Given the description of an element on the screen output the (x, y) to click on. 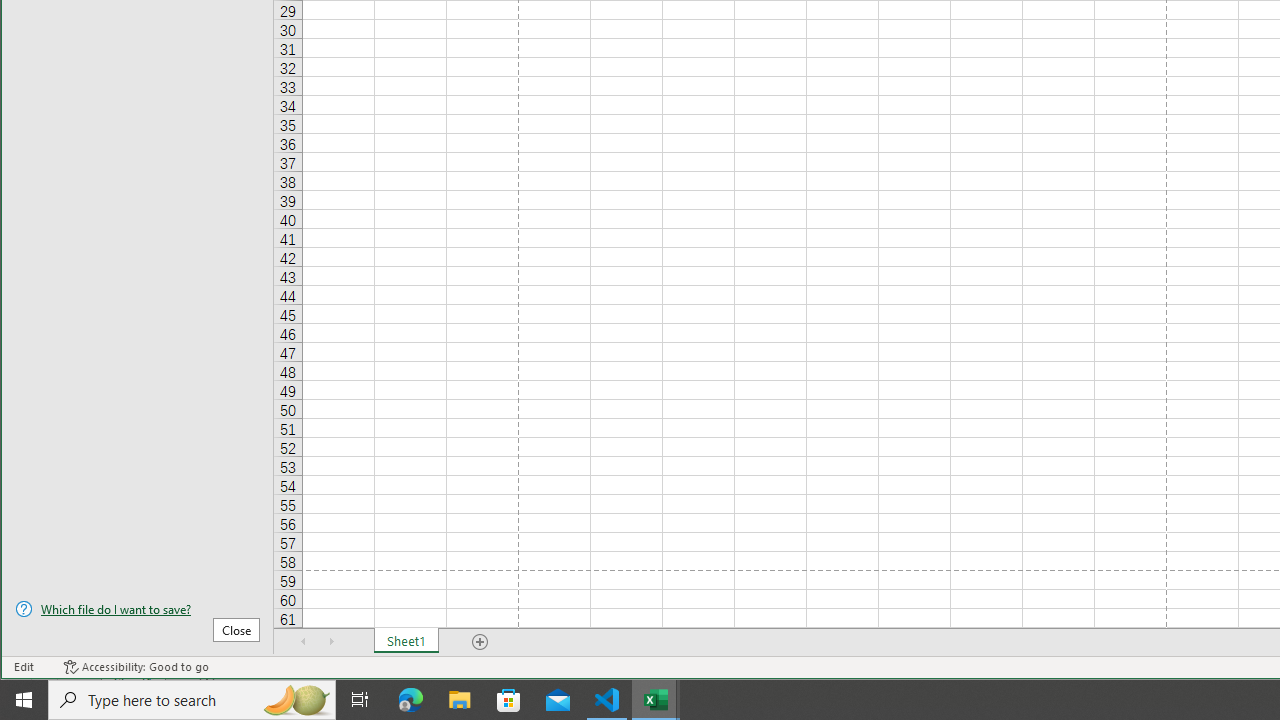
File Explorer (460, 699)
Microsoft Store (509, 699)
Start (24, 699)
Scroll Right (331, 641)
Scroll Left (303, 641)
Task View (359, 699)
Type here to search (191, 699)
Add Sheet (481, 641)
Which file do I want to save? (137, 609)
Excel - 2 running windows (656, 699)
Microsoft Edge (411, 699)
Search highlights icon opens search home window (295, 699)
Accessibility Checker Accessibility: Good to go (136, 667)
Visual Studio Code - 1 running window (607, 699)
